Given the description of an element on the screen output the (x, y) to click on. 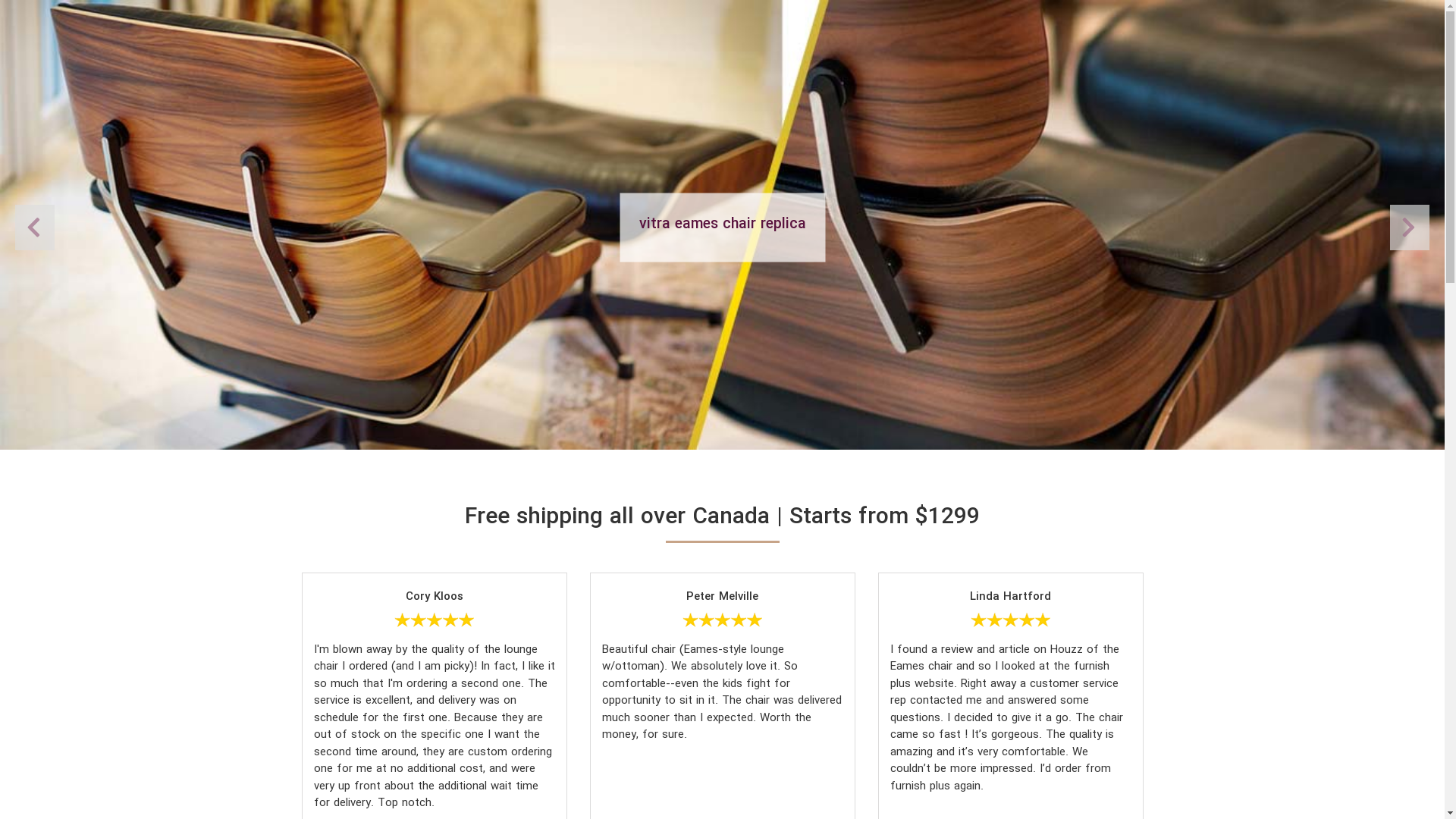
Next Element type: text (34, 227)
Previous Element type: text (1409, 227)
